Given the description of an element on the screen output the (x, y) to click on. 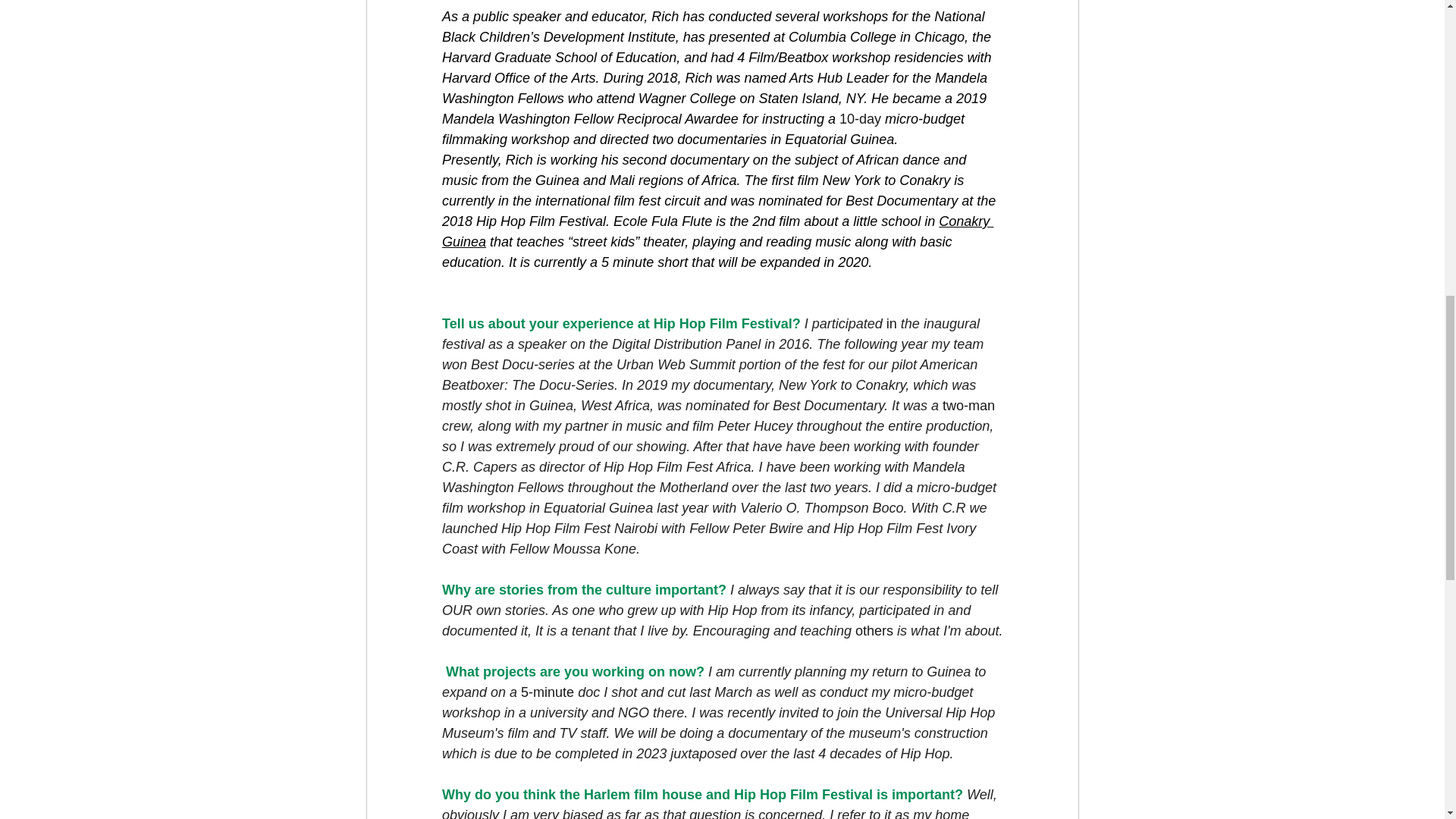
Conakry Guinea (716, 231)
